Given the description of an element on the screen output the (x, y) to click on. 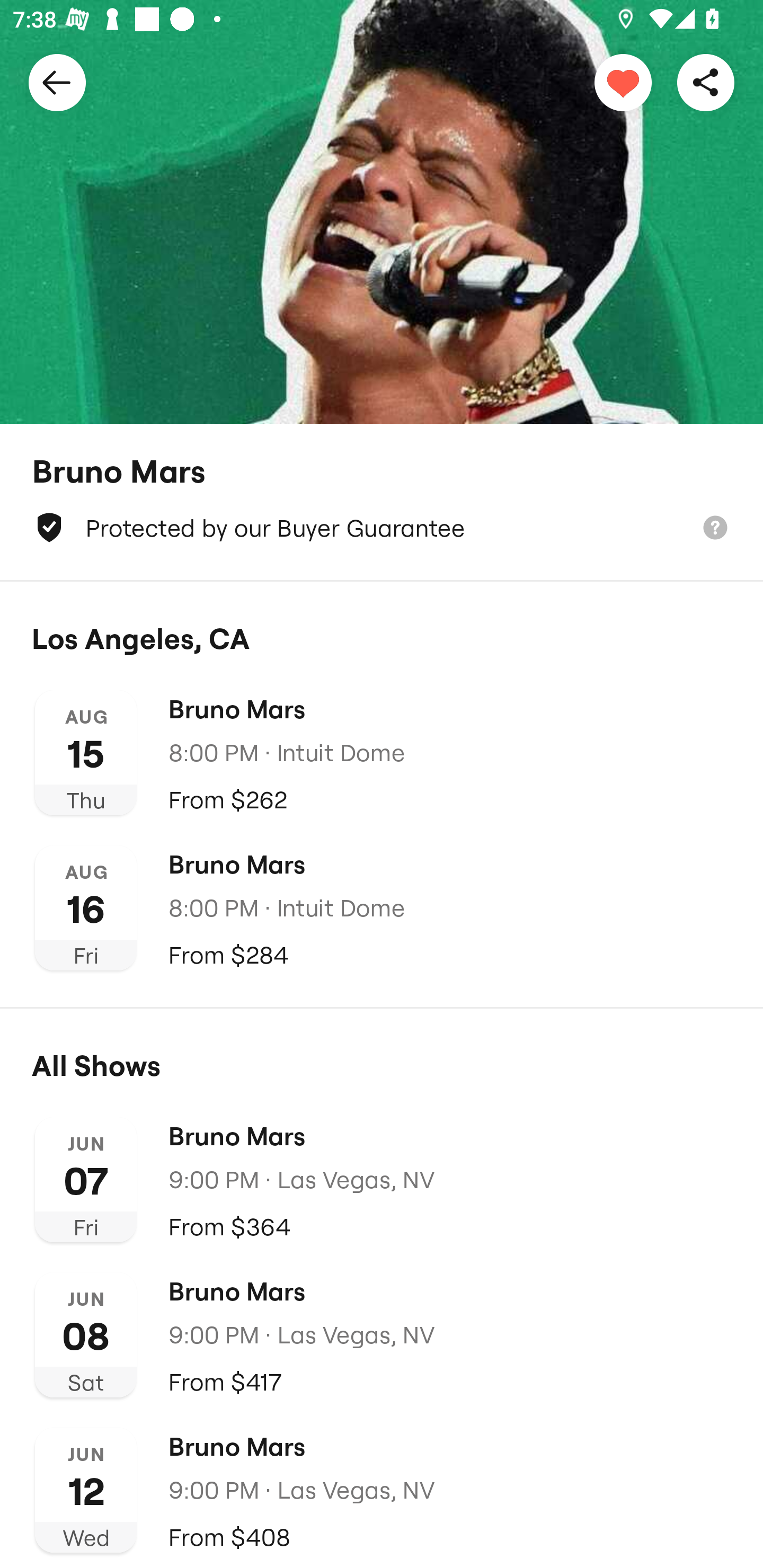
Back (57, 81)
Track this performer (623, 81)
Share this performer (705, 81)
Protected by our Buyer Guarantee Learn more (381, 527)
